Given the description of an element on the screen output the (x, y) to click on. 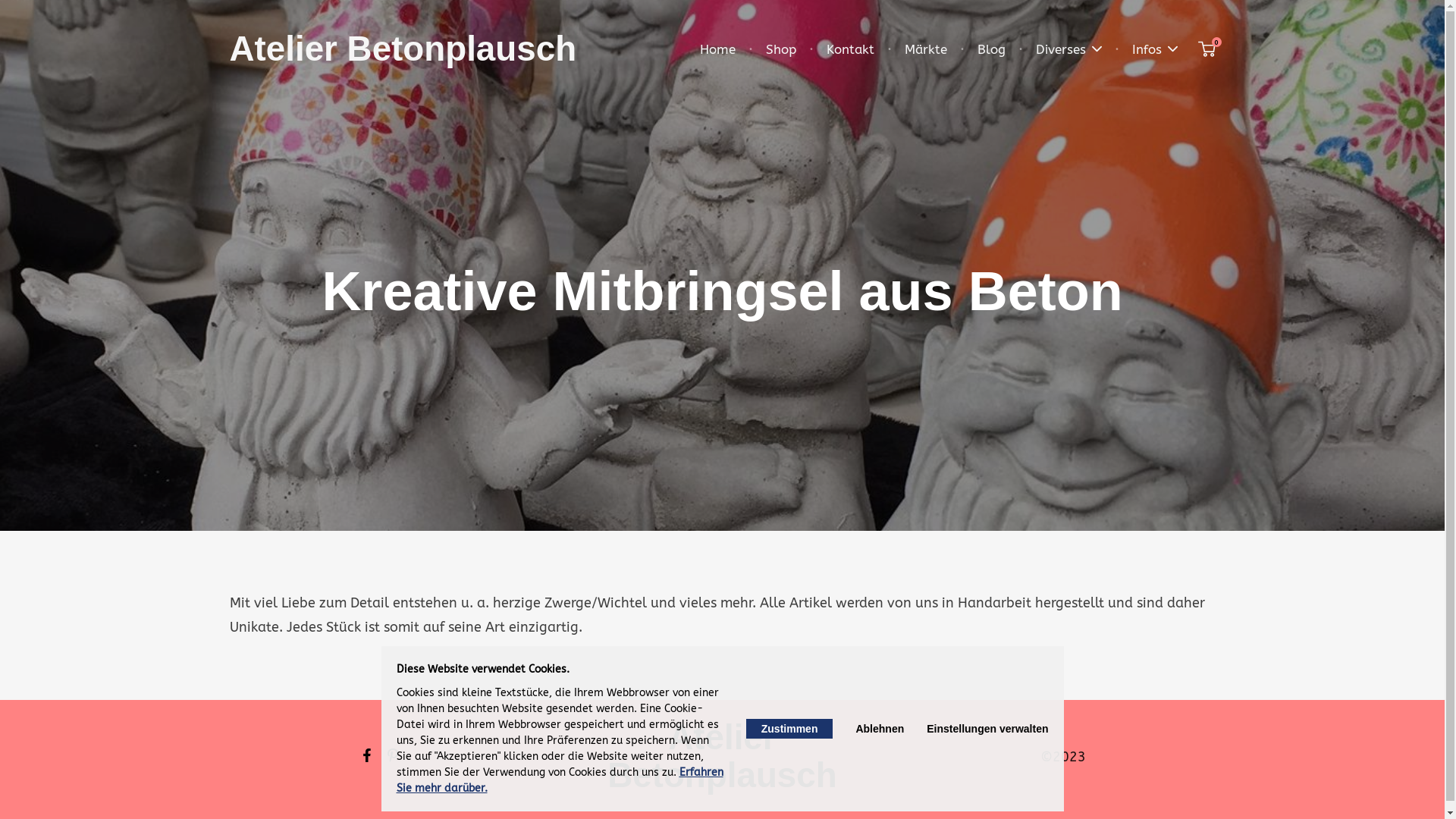
Einstellungen verwalten Element type: text (987, 728)
Zustimmen Element type: text (789, 728)
Shop Element type: text (780, 49)
Atelier Betonplausch Element type: text (722, 756)
Home Element type: text (716, 49)
Atelier Betonplausch Element type: text (402, 48)
Ablehnen Element type: text (879, 728)
Warenkorb:
0 Element type: text (1206, 49)
Blog Element type: text (990, 49)
Kontakt Element type: text (850, 49)
